Given the description of an element on the screen output the (x, y) to click on. 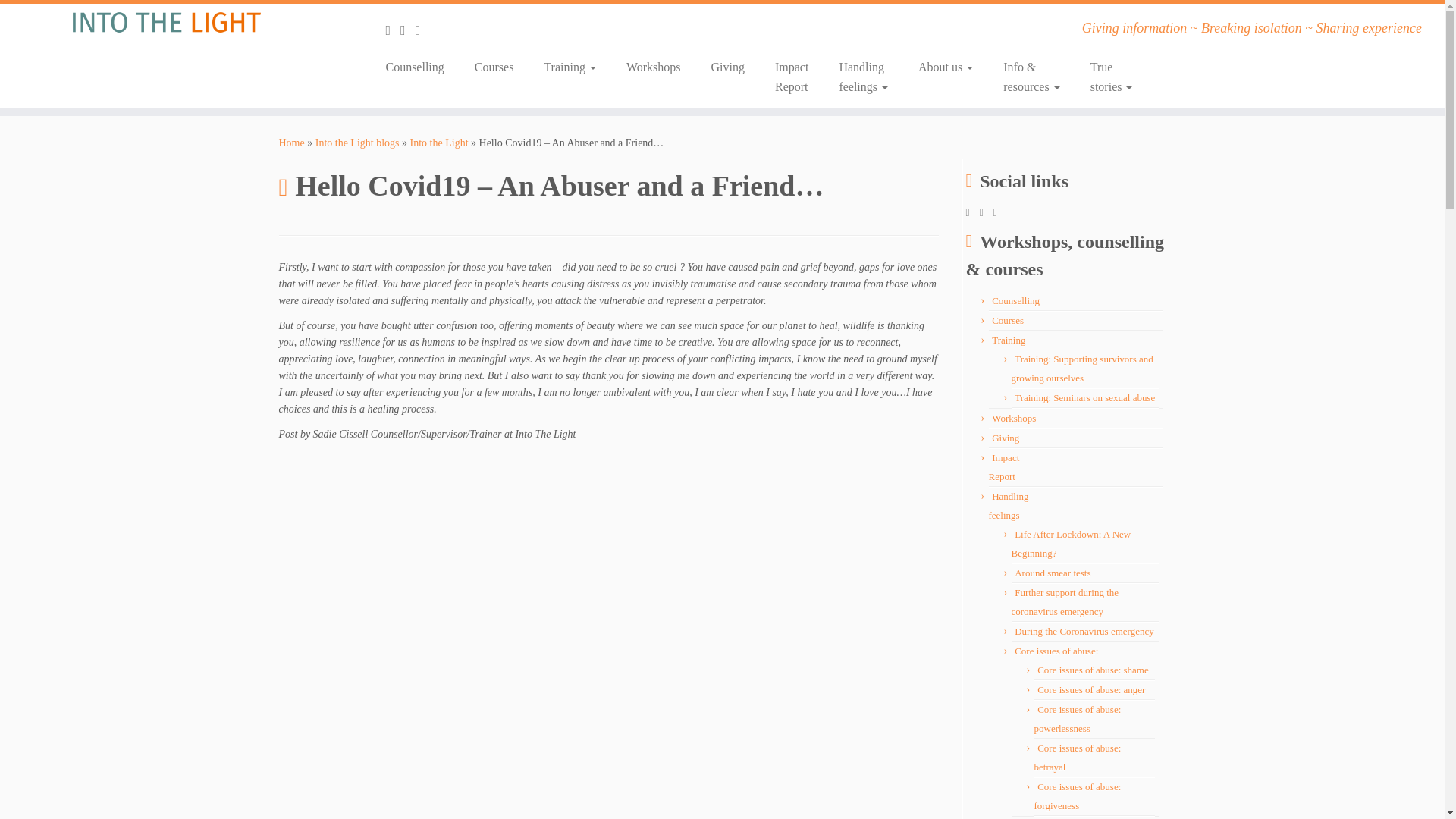
Workshops (653, 67)
Counselling (419, 67)
About us (945, 67)
Follow us on Facebook (392, 29)
Giving (727, 67)
Courses (494, 67)
Into the Light (439, 142)
Training (569, 67)
Follow us on Twitter (407, 29)
Into the Light (291, 142)
Into the Light blogs (863, 76)
Follow us on Instagram (356, 142)
